Given the description of an element on the screen output the (x, y) to click on. 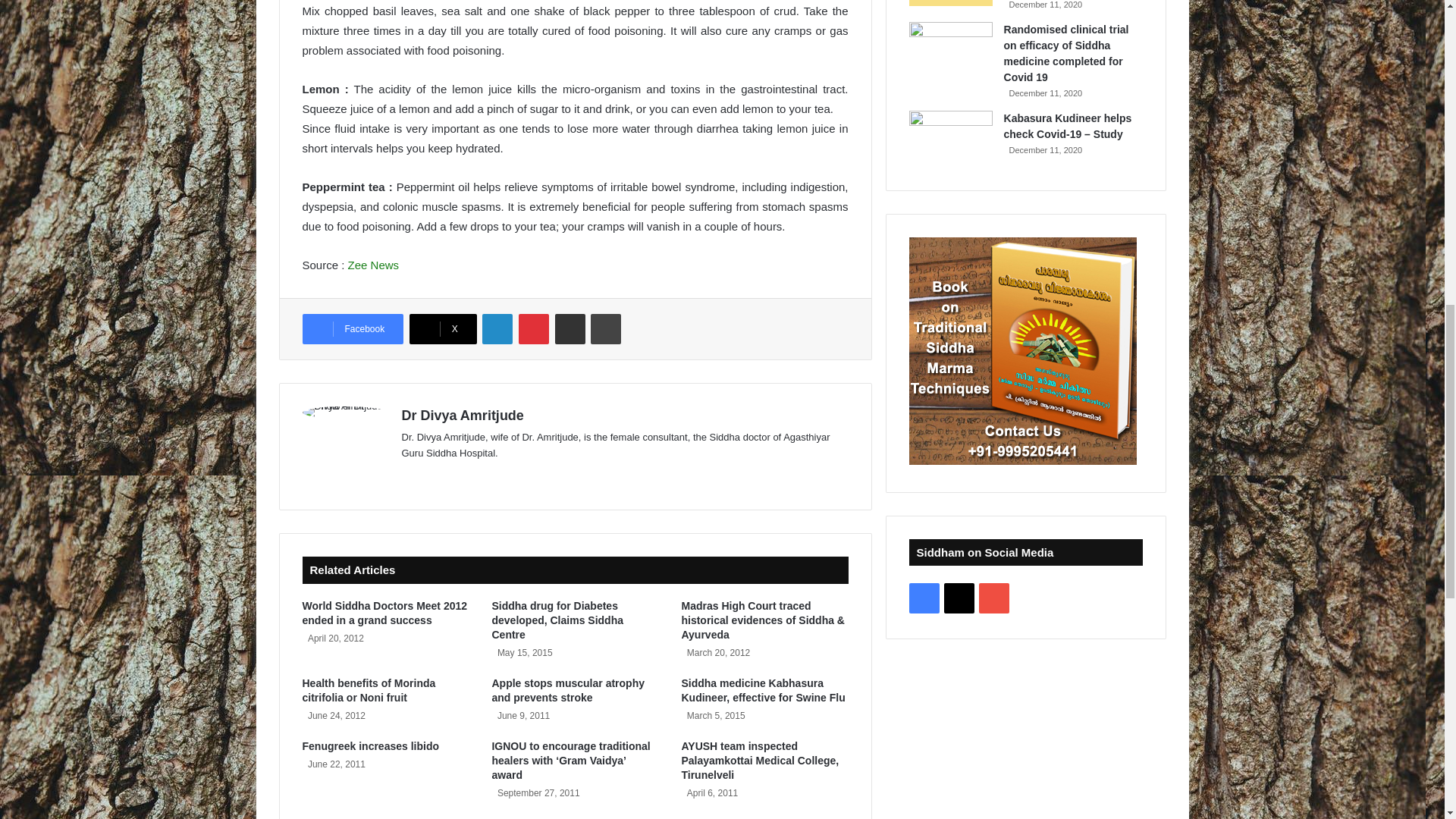
LinkedIn (496, 328)
Share via Email (569, 328)
X (443, 328)
LinkedIn (496, 328)
Pinterest (533, 328)
Pinterest (533, 328)
Zee News (372, 264)
Facebook (352, 328)
X (443, 328)
Facebook (352, 328)
Share via Email (569, 328)
